Given the description of an element on the screen output the (x, y) to click on. 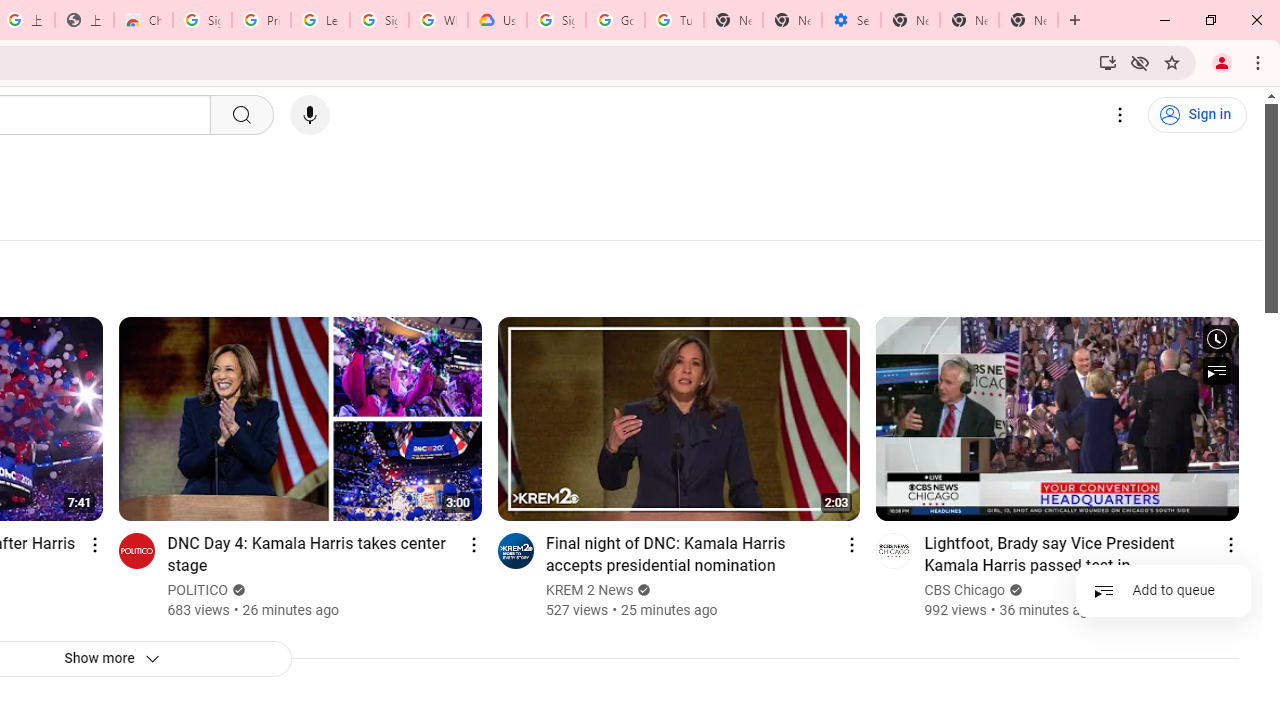
Sign in - Google Accounts (379, 20)
Search with your voice (309, 115)
Sign in - Google Accounts (556, 20)
Who are Google's partners? - Privacy and conditions - Google (438, 20)
KREM 2 News (589, 590)
CBS Chicago (965, 590)
Chrome Web Store (142, 20)
Go to channel (893, 550)
Google Account Help (615, 20)
